Given the description of an element on the screen output the (x, y) to click on. 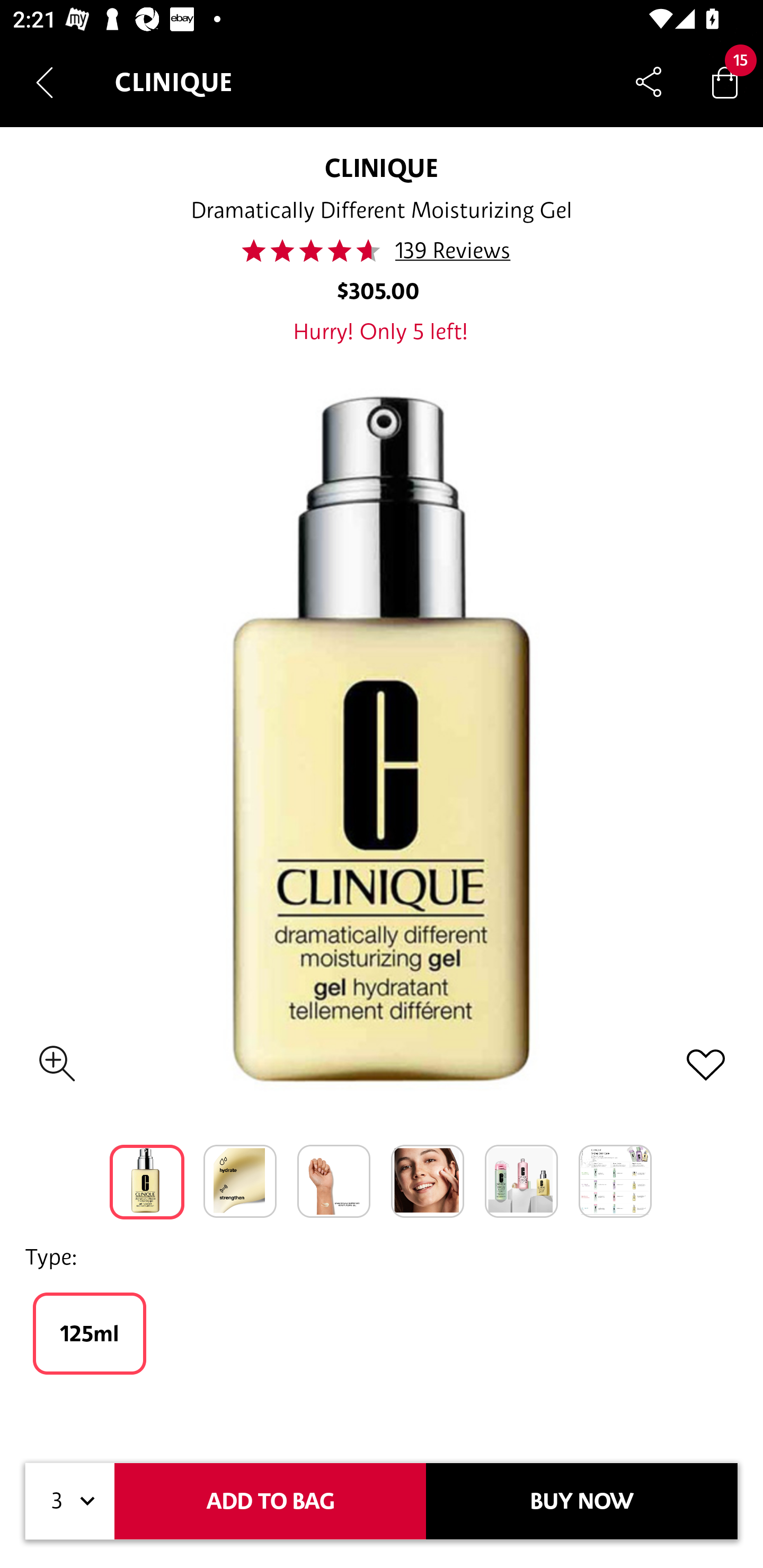
Navigate up (44, 82)
Share (648, 81)
Bag (724, 81)
CLINIQUE (381, 167)
46.0 139 Reviews (381, 250)
125ml (89, 1333)
3 (69, 1500)
ADD TO BAG (269, 1500)
BUY NOW (581, 1500)
